Given the description of an element on the screen output the (x, y) to click on. 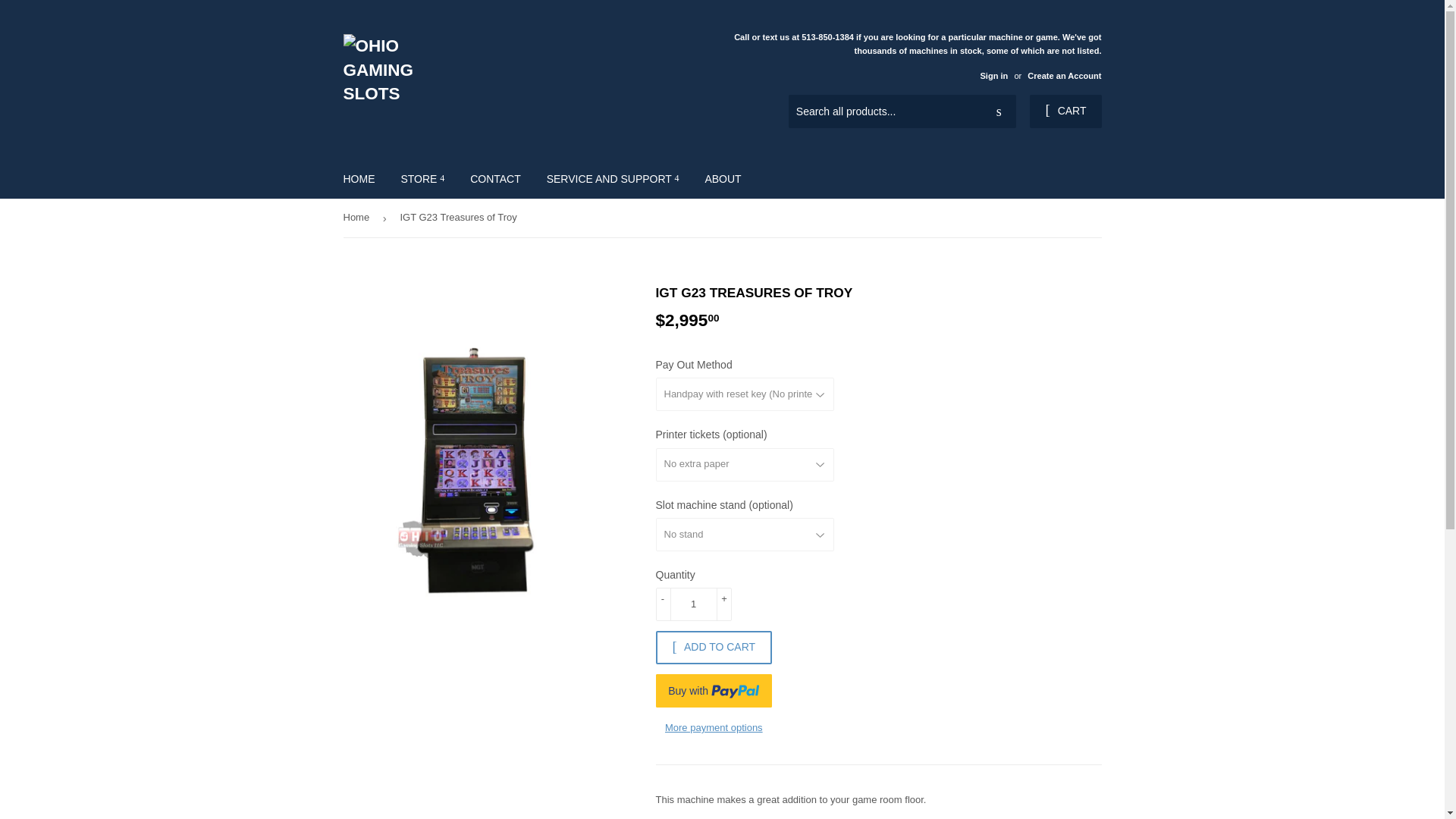
SERVICE AND SUPPORT (612, 178)
Back to the frontpage (358, 218)
HOME (359, 178)
Search (998, 111)
1 (692, 604)
CONTACT (495, 178)
CART (1064, 110)
STORE (421, 178)
Create an Account (1063, 75)
Sign in (993, 75)
